Given the description of an element on the screen output the (x, y) to click on. 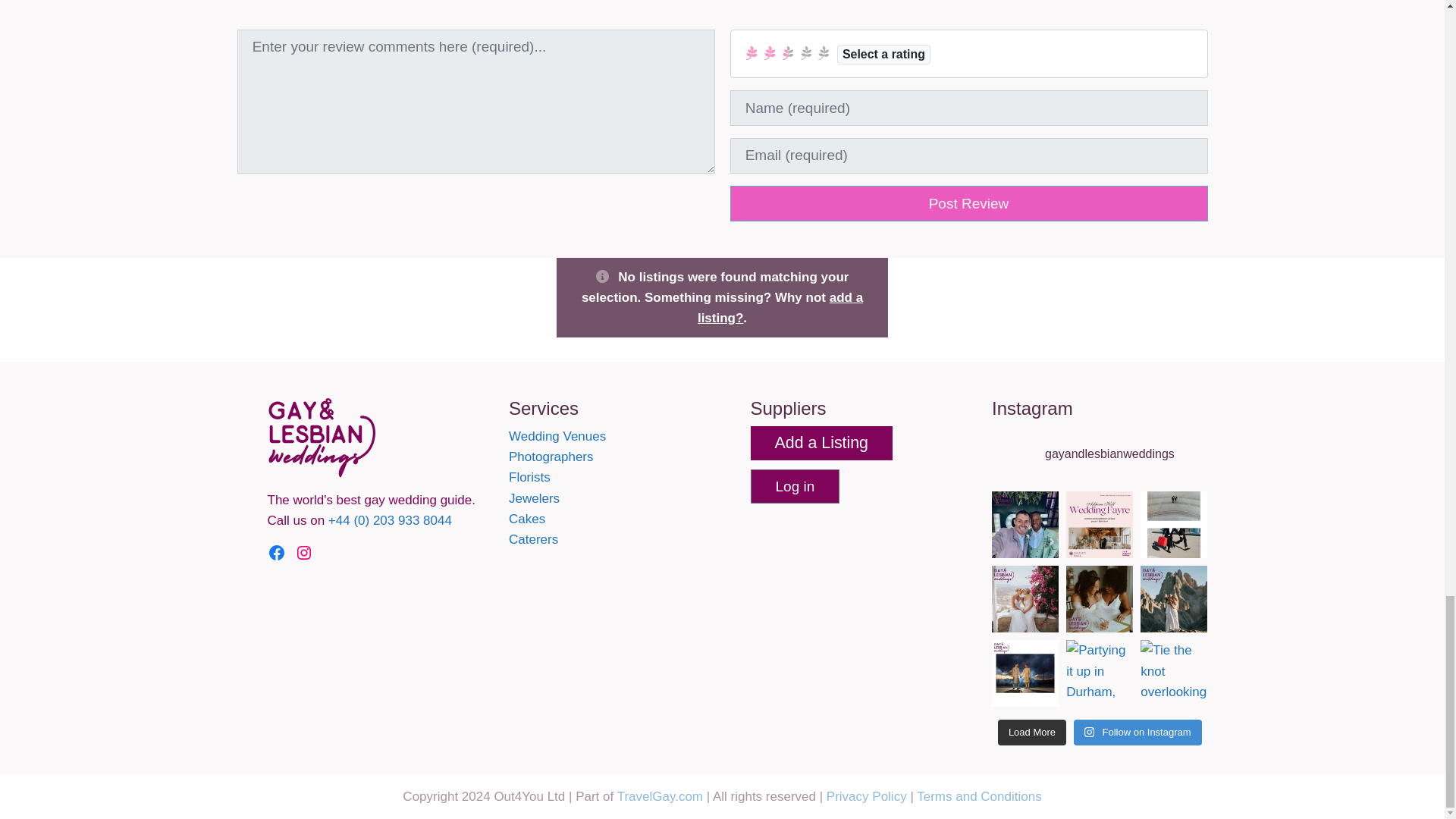
Post Review (968, 203)
Terrible (751, 52)
Excellent (822, 52)
Very Good (805, 52)
Poor (769, 52)
Average (787, 52)
